Given the description of an element on the screen output the (x, y) to click on. 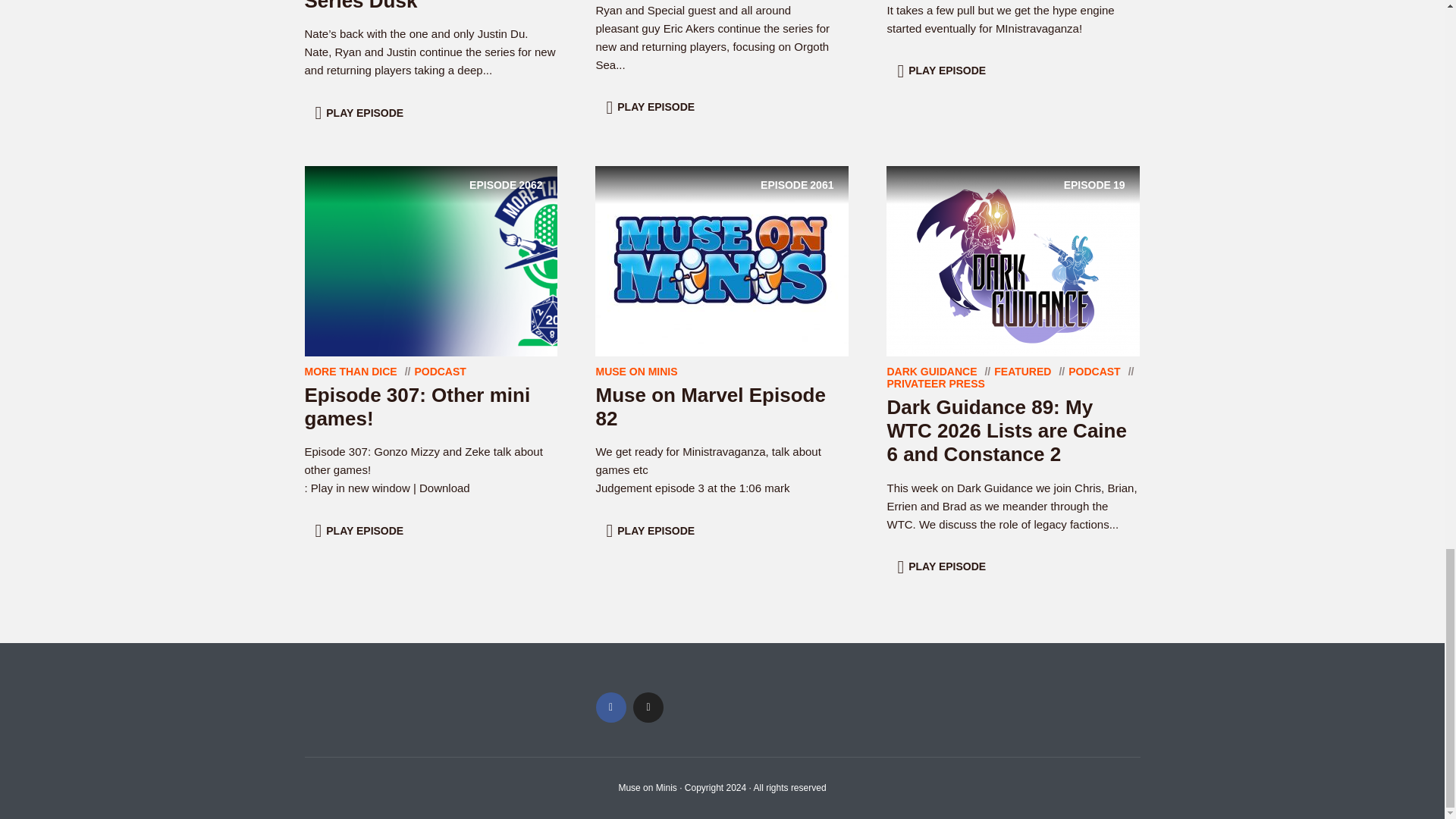
Facebook (610, 707)
